Given the description of an element on the screen output the (x, y) to click on. 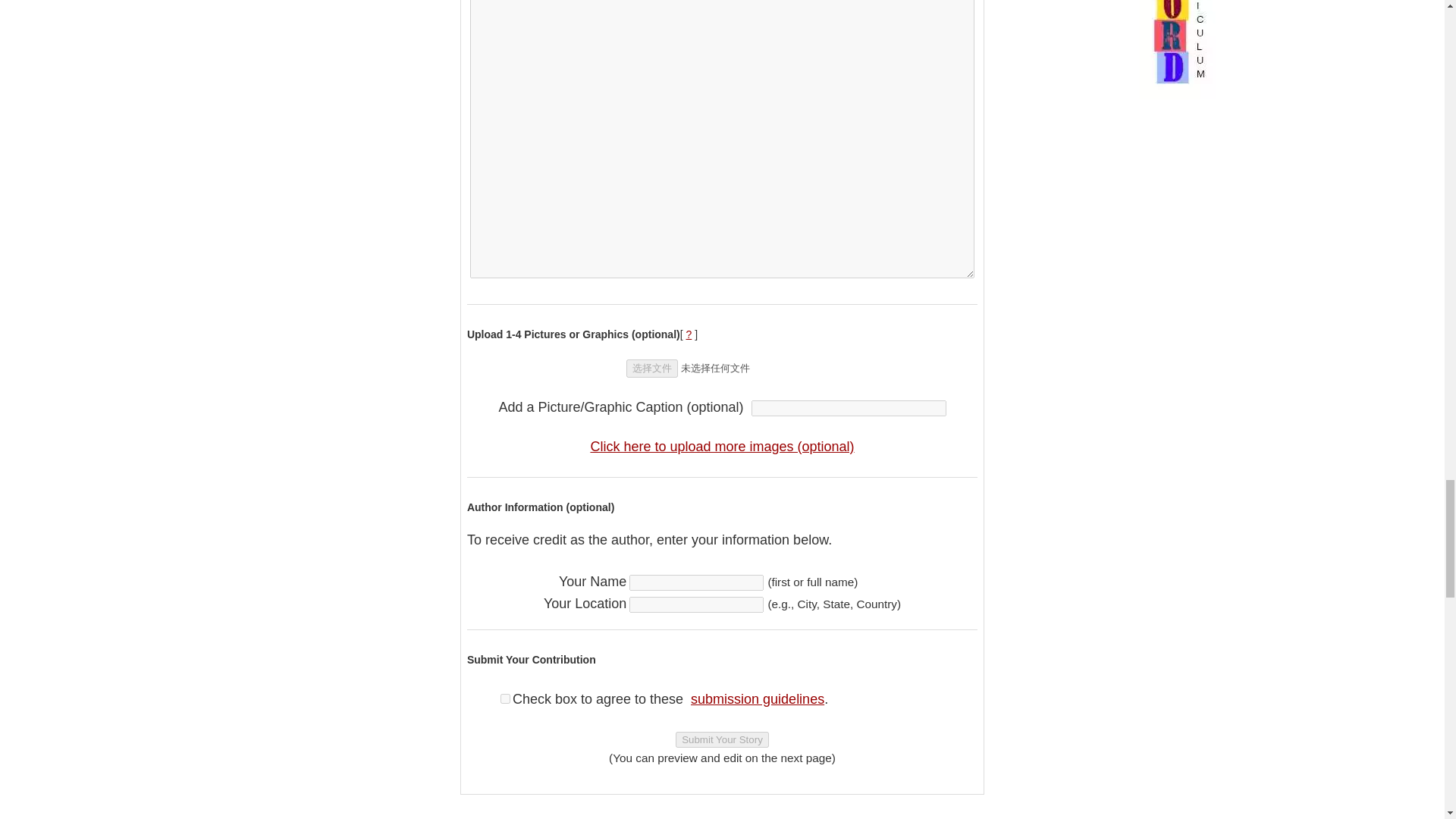
checkbox (505, 698)
Submit Your Story (721, 739)
